Given the description of an element on the screen output the (x, y) to click on. 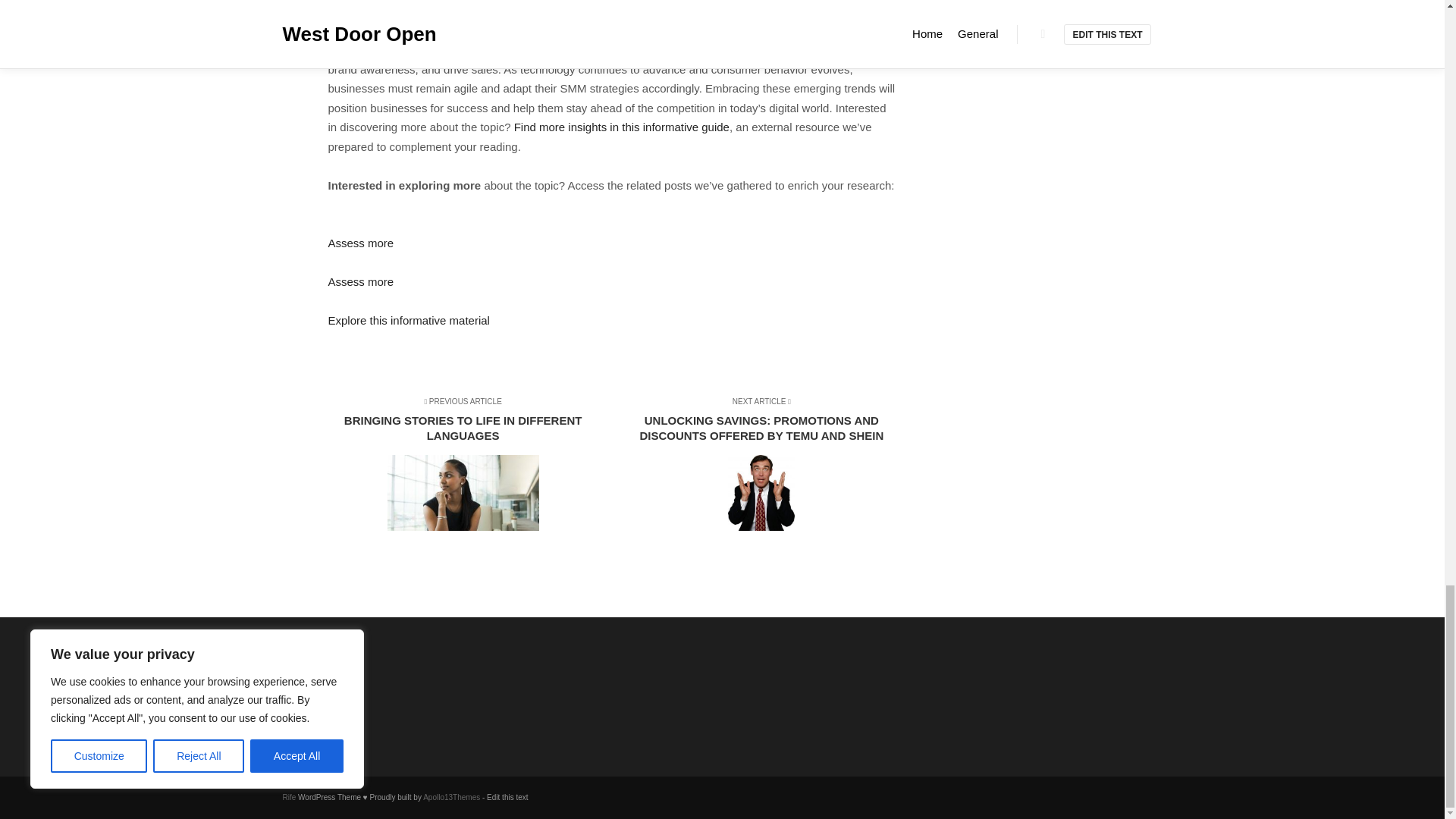
Assess more (360, 242)
Find more insights in this informative guide (621, 126)
About (360, 683)
Explore this informative material (408, 319)
Assess more (360, 281)
